Given the description of an element on the screen output the (x, y) to click on. 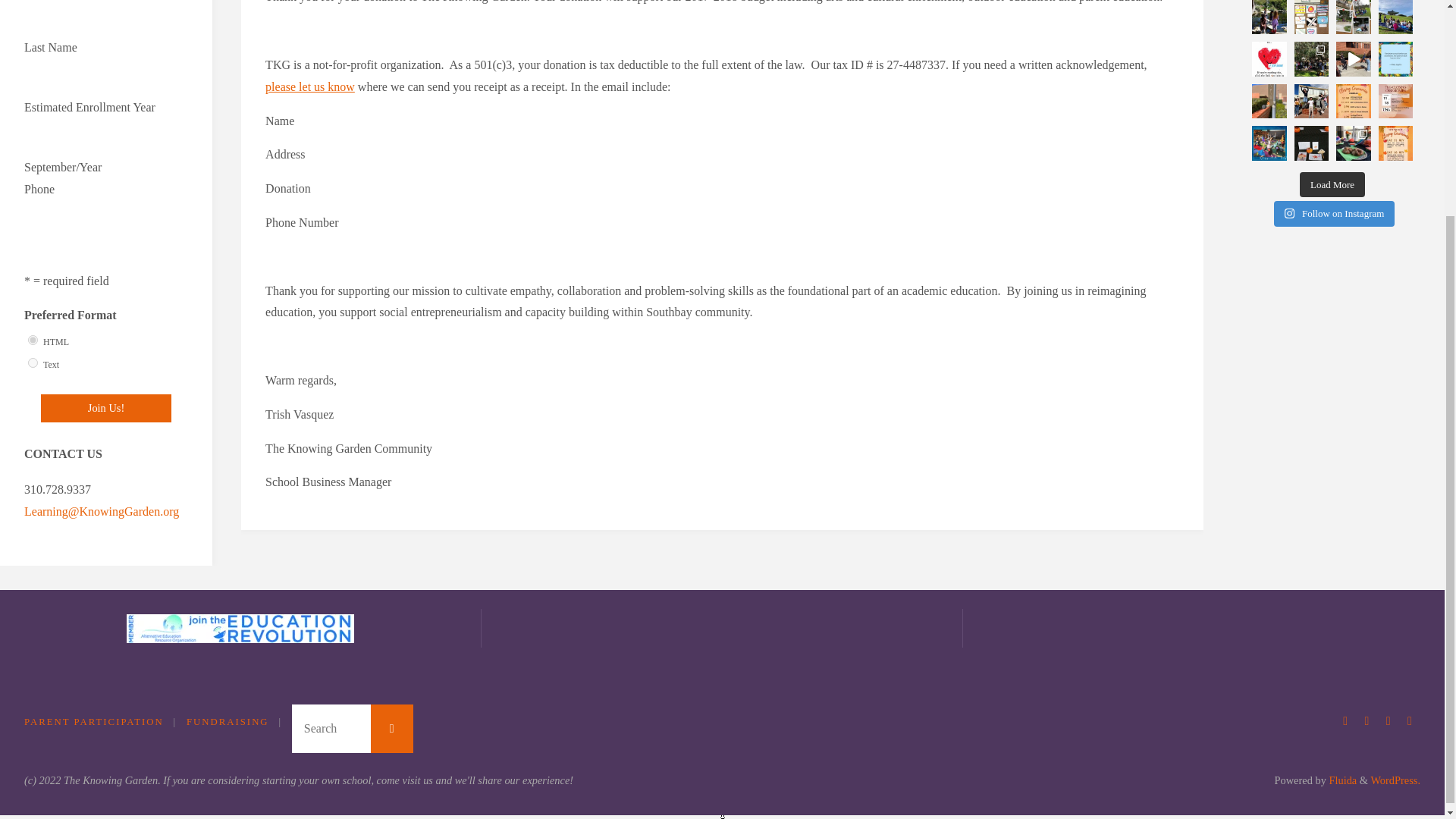
Facebook (1366, 721)
please let us know (309, 86)
text (32, 362)
Join Us! (105, 407)
Fluida WordPress Theme by Cryout Creations (1341, 779)
Insta (1345, 721)
YouTube (1388, 721)
html (32, 339)
Spotify Embed: TKGMaskARave2021 (1332, 289)
Join Us! (105, 407)
